Given the description of an element on the screen output the (x, y) to click on. 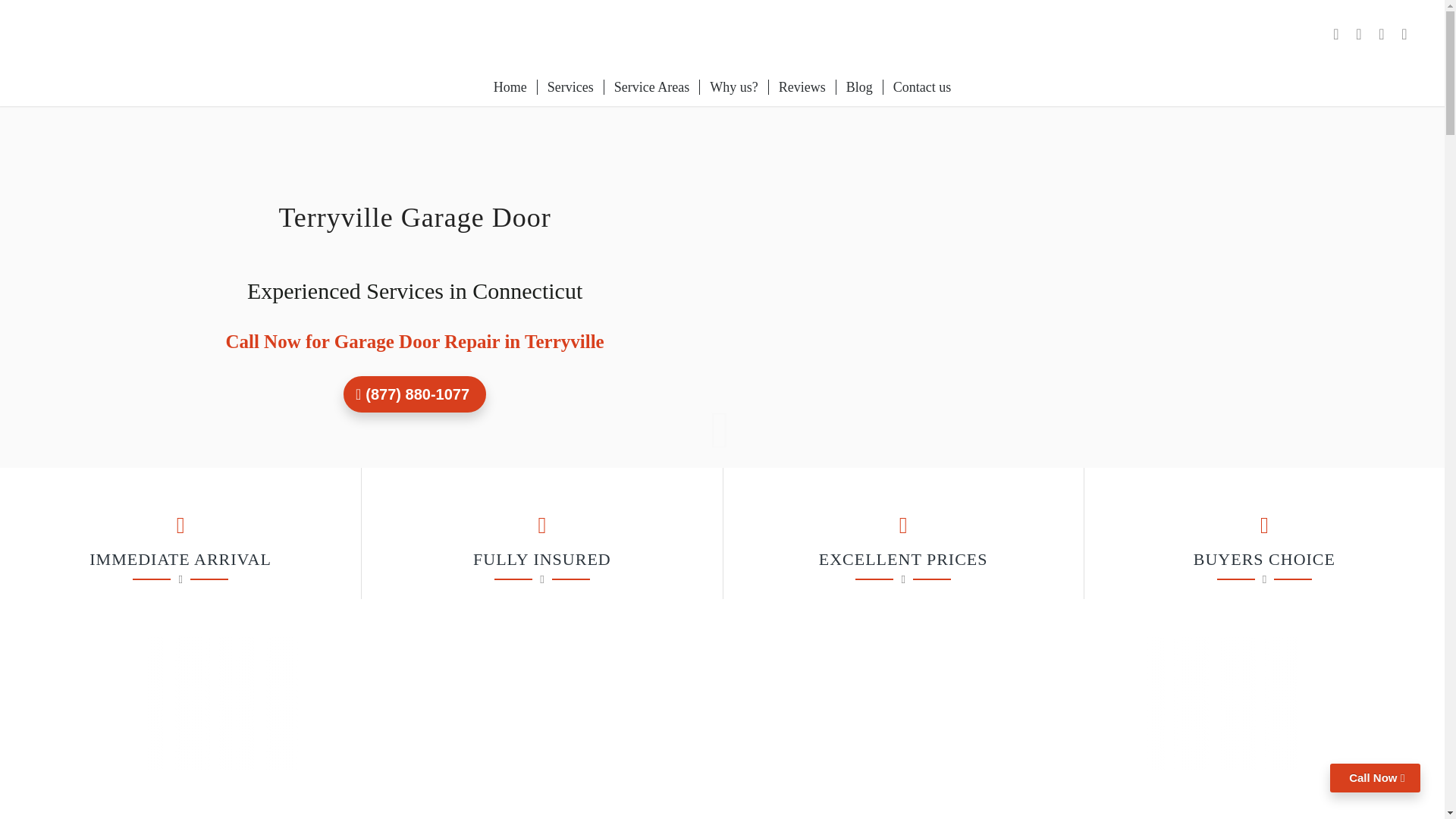
Home (510, 86)
Facebook (1336, 33)
Contact us (921, 86)
Twitter (1381, 33)
Services (570, 86)
LinkedIn (1359, 33)
Blog (858, 86)
Youtube (1404, 33)
Why us? (732, 86)
Service Areas (651, 86)
Reviews (801, 86)
